Given the description of an element on the screen output the (x, y) to click on. 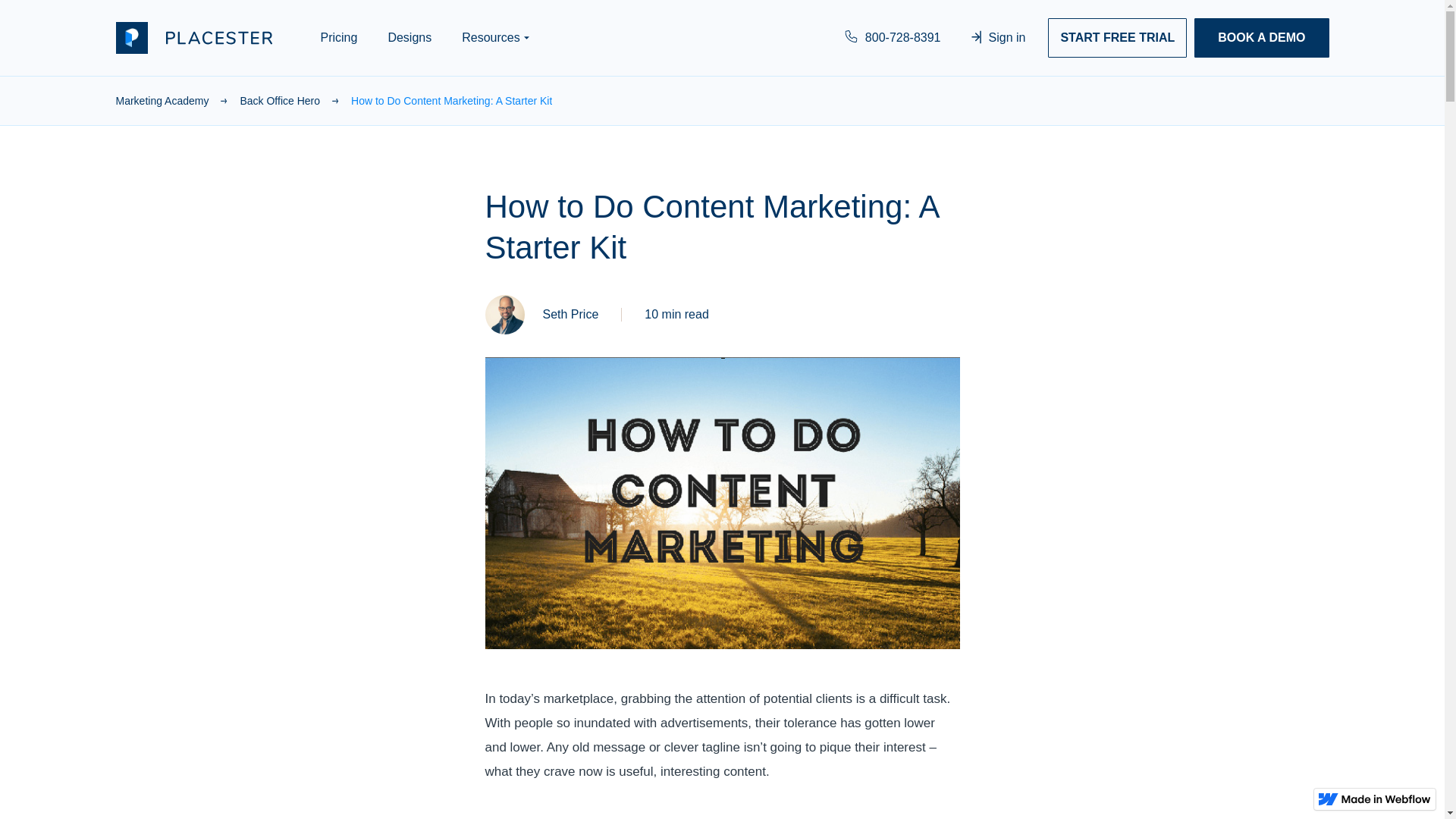
START FREE TRIAL (1117, 37)
BOOK A DEMO (1260, 37)
How to Do Content Marketing: A Starter Kit (450, 100)
Back Office Hero (295, 100)
Marketing Academy (177, 100)
Pricing (338, 37)
800-728-8391 (892, 37)
Seth Price (567, 314)
Designs (409, 37)
Sign in (998, 37)
